Given the description of an element on the screen output the (x, y) to click on. 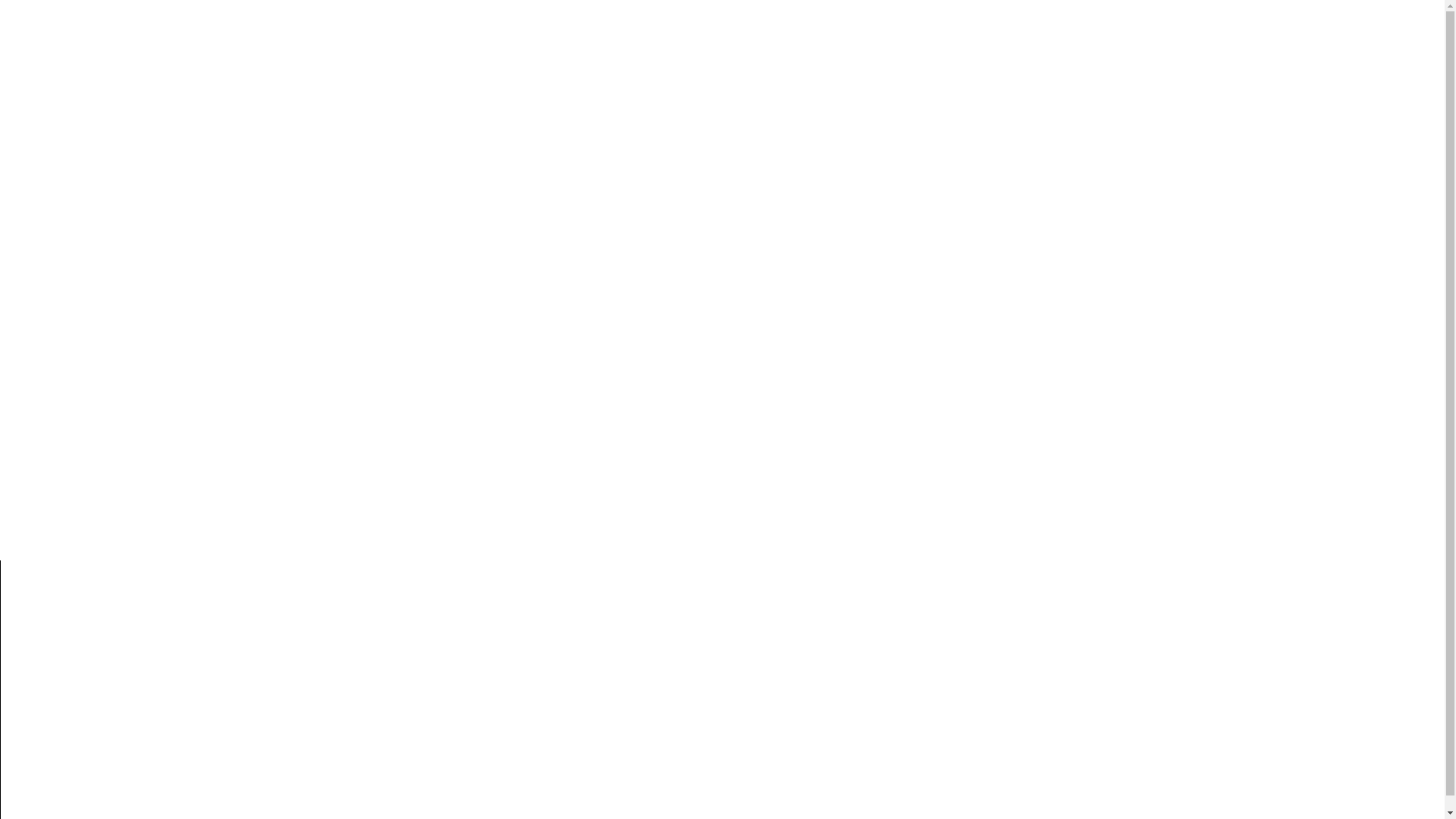
PRIVACY POLICY AND WEBSITE T&CS Element type: text (1019, 799)
Skip to content Element type: text (0, 0)
Facebook Element type: text (1001, 720)
Hickory Element type: hover (140, 24)
EXPERTISE Element type: text (572, 25)
LinkedIn Element type: text (995, 688)
MADE FOR LIFE Element type: text (275, 25)
CONTACT Element type: text (734, 25)
NEWS Element type: text (667, 25)
YouTube Element type: text (995, 751)
PEOPLE Element type: text (389, 25)
Instagram Element type: text (1001, 656)
PROJECTS Element type: text (485, 25)
HICKORY+ Element type: text (1234, 24)
Submit Element type: text (563, 654)
Return to Home Element type: text (721, 463)
